Given the description of an element on the screen output the (x, y) to click on. 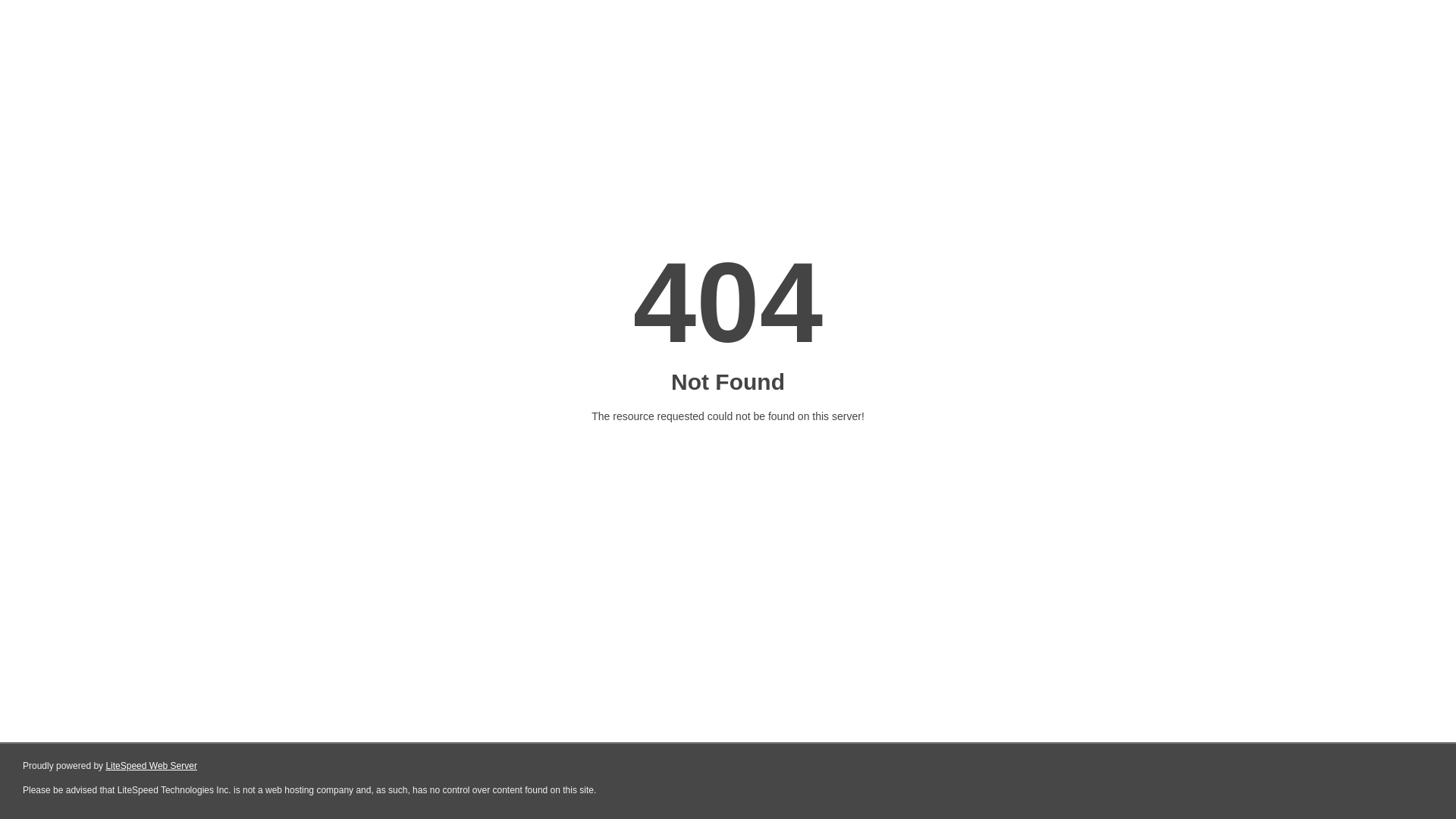
LiteSpeed Web Server Element type: text (151, 765)
